Given the description of an element on the screen output the (x, y) to click on. 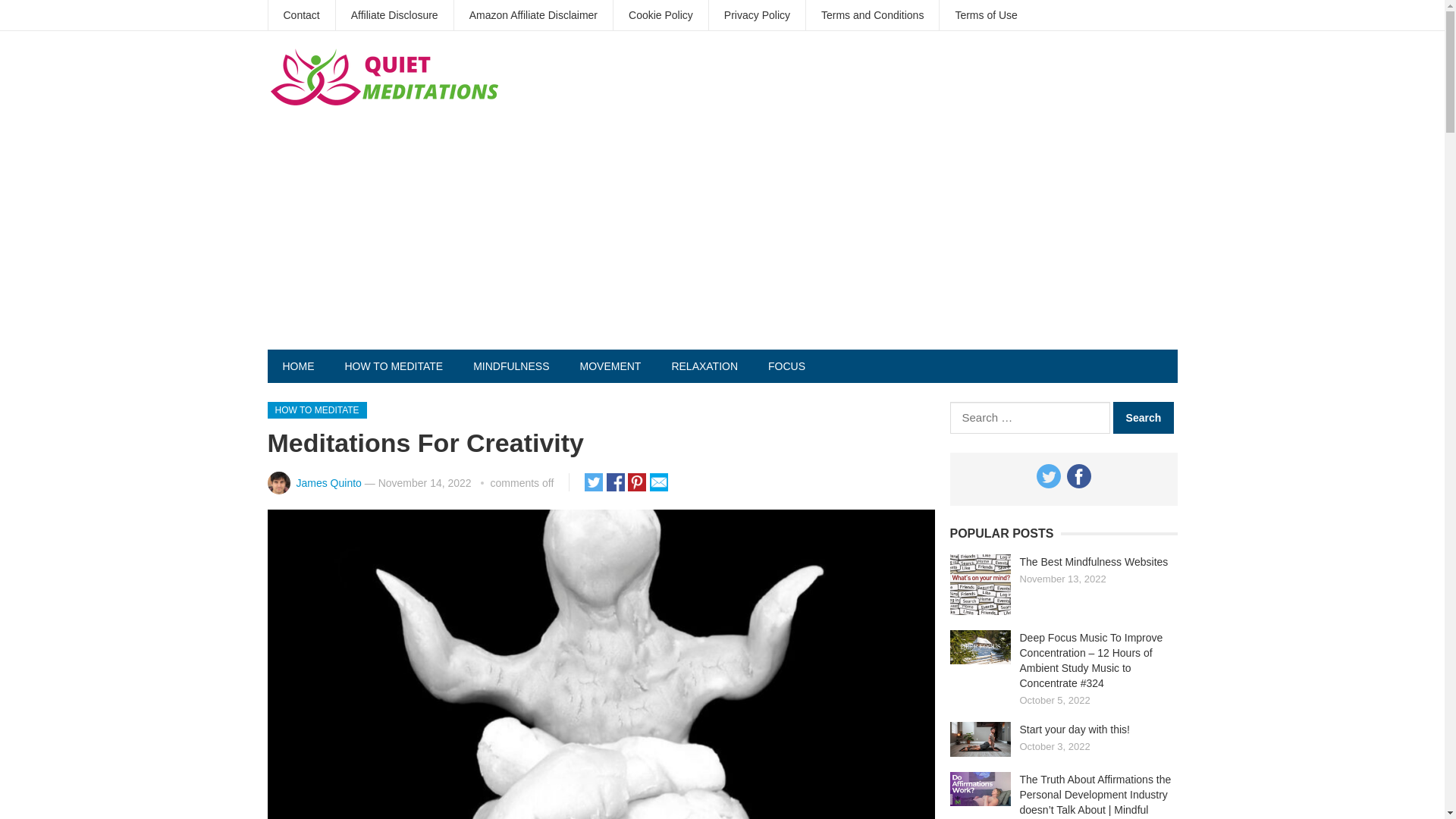
MOVEMENT (610, 366)
Amazon Affiliate Disclaimer (533, 15)
Search (1143, 418)
James Quinto (328, 482)
HOME (297, 366)
Affiliate Disclosure (394, 15)
Search (1143, 418)
Terms and Conditions (872, 15)
Cookie Policy (659, 15)
View all posts in How To Meditate (316, 410)
MINDFULNESS (511, 366)
Privacy Policy (757, 15)
HOW TO MEDITATE (316, 410)
Contact (300, 15)
